Given the description of an element on the screen output the (x, y) to click on. 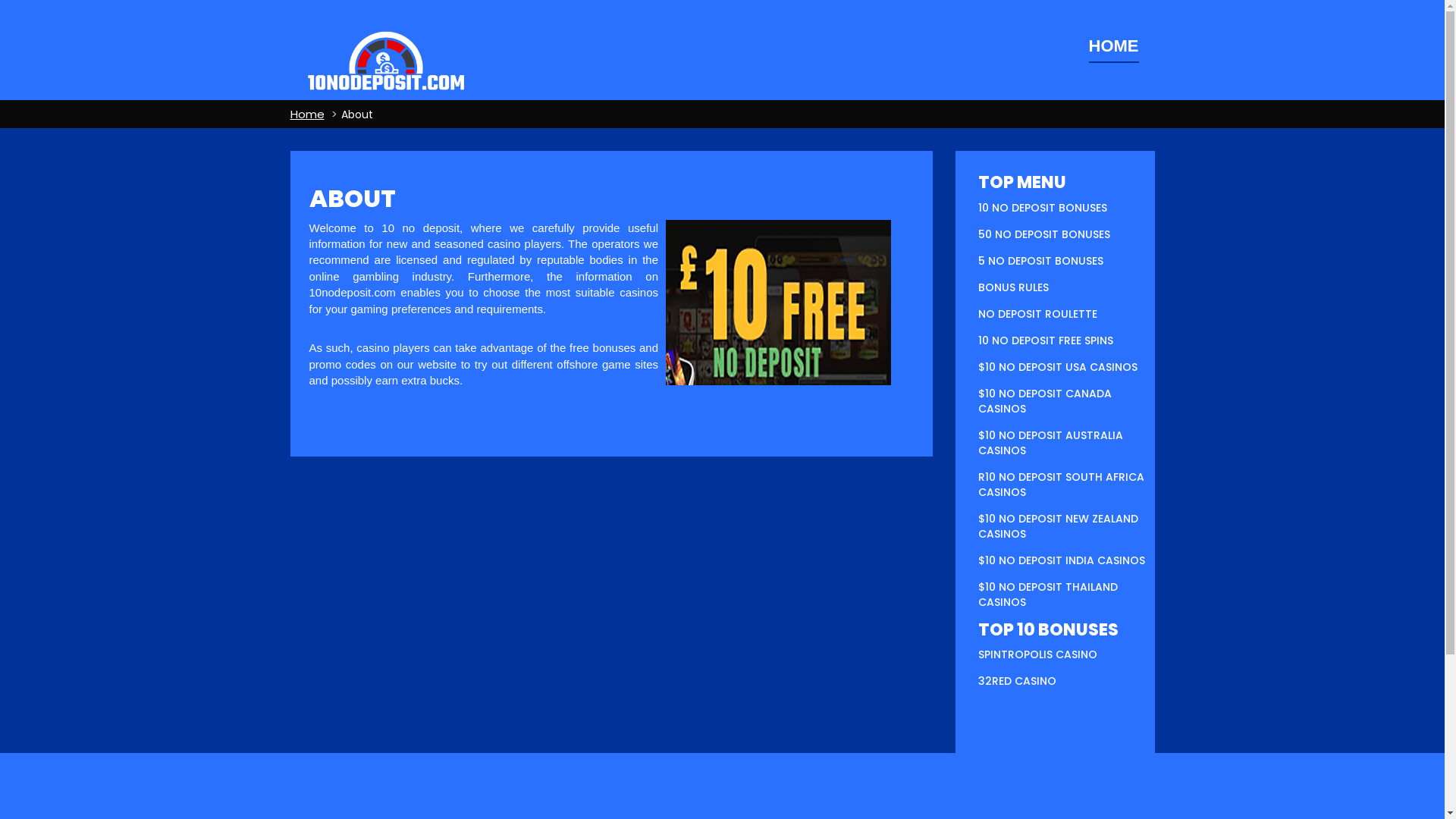
HOME Element type: text (1113, 46)
50 NO DEPOSIT BONUSES Element type: text (1044, 233)
$10 NO DEPOSIT INDIA CASINOS Element type: text (1061, 559)
$10 NO DEPOSIT CANADA CASINOS Element type: text (1044, 400)
$10 NO DEPOSIT USA CASINOS Element type: text (1057, 366)
BONUS RULES Element type: text (1013, 286)
10 NO DEPOSIT BONUSES Element type: text (1042, 207)
Home Element type: text (306, 114)
32RED CASINO Element type: text (1017, 680)
R10 NO DEPOSIT SOUTH AFRICA CASINOS Element type: text (1061, 484)
$10 NO DEPOSIT THAILAND CASINOS Element type: text (1047, 594)
5 NO DEPOSIT BONUSES Element type: text (1040, 260)
10 NO DEPOSIT FREE SPINS Element type: text (1045, 340)
NO DEPOSIT ROULETTE Element type: text (1037, 313)
$10 NO DEPOSIT AUSTRALIA CASINOS Element type: text (1050, 442)
$10 NO DEPOSIT NEW ZEALAND CASINOS Element type: text (1058, 526)
SPINTROPOLIS CASINO Element type: text (1037, 654)
